Given the description of an element on the screen output the (x, y) to click on. 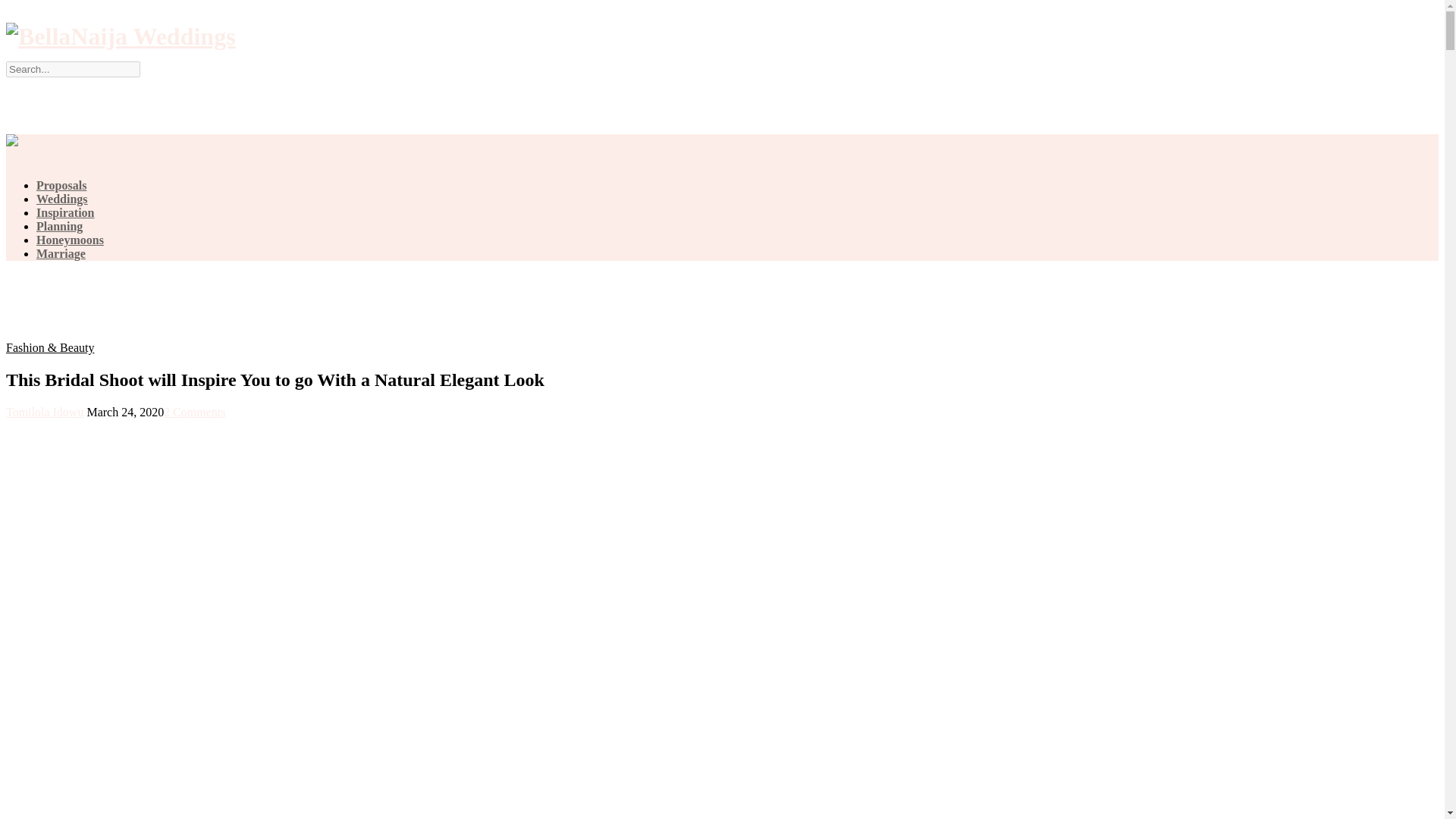
Planning (59, 226)
Weddings (61, 198)
Honeymoons (69, 239)
2 Comments (194, 411)
Inspiration (65, 212)
Proposals (60, 185)
Tomilola Idowu (43, 411)
Marriage (60, 253)
Posts by Tomilola Idowu (43, 411)
